Given the description of an element on the screen output the (x, y) to click on. 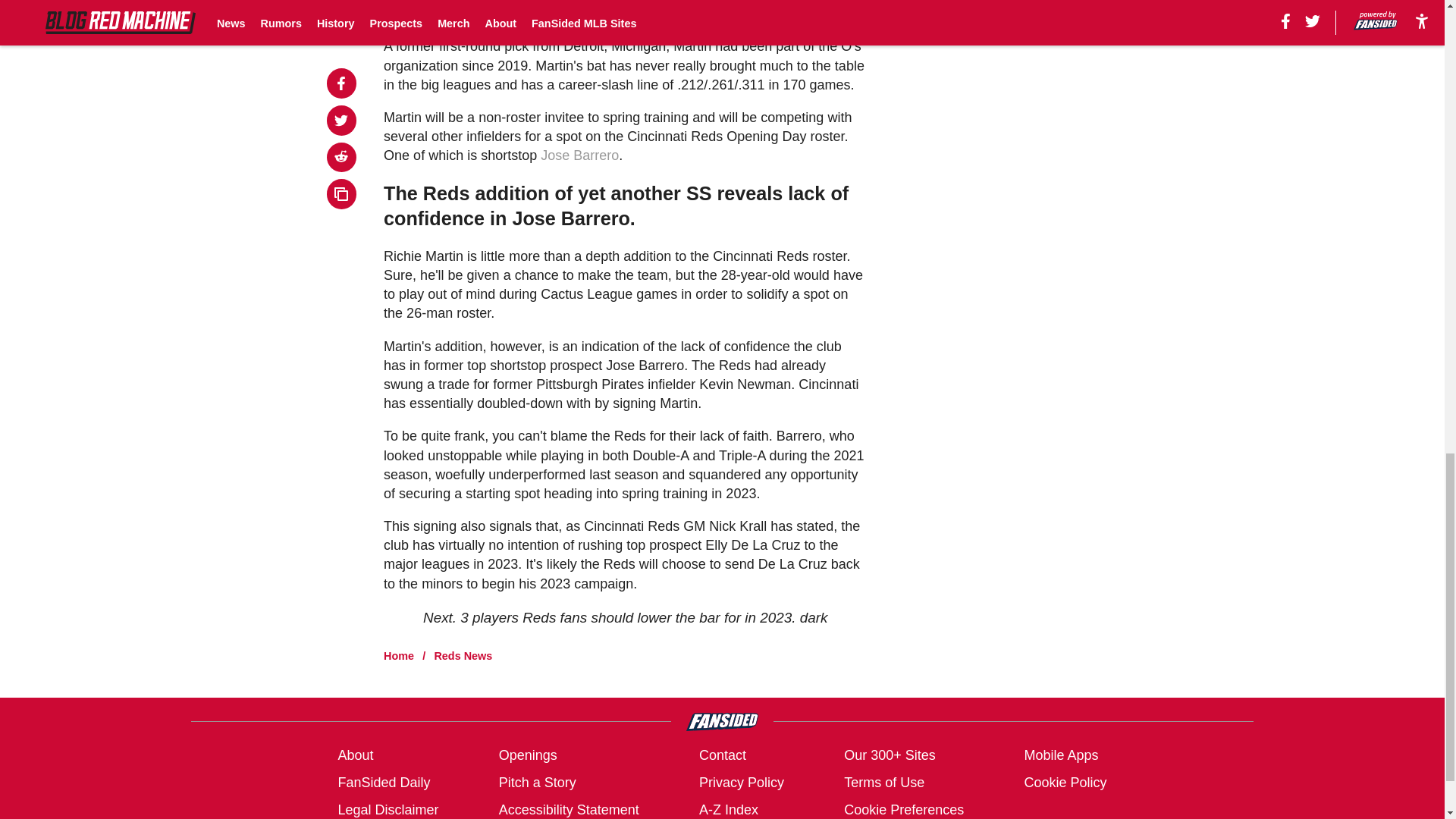
Openings (528, 754)
Mobile Apps (1060, 754)
Contact (721, 754)
Richie Martin (423, 13)
Reds News (462, 655)
Home (398, 655)
Jose Barrero (579, 155)
About (354, 754)
